Given the description of an element on the screen output the (x, y) to click on. 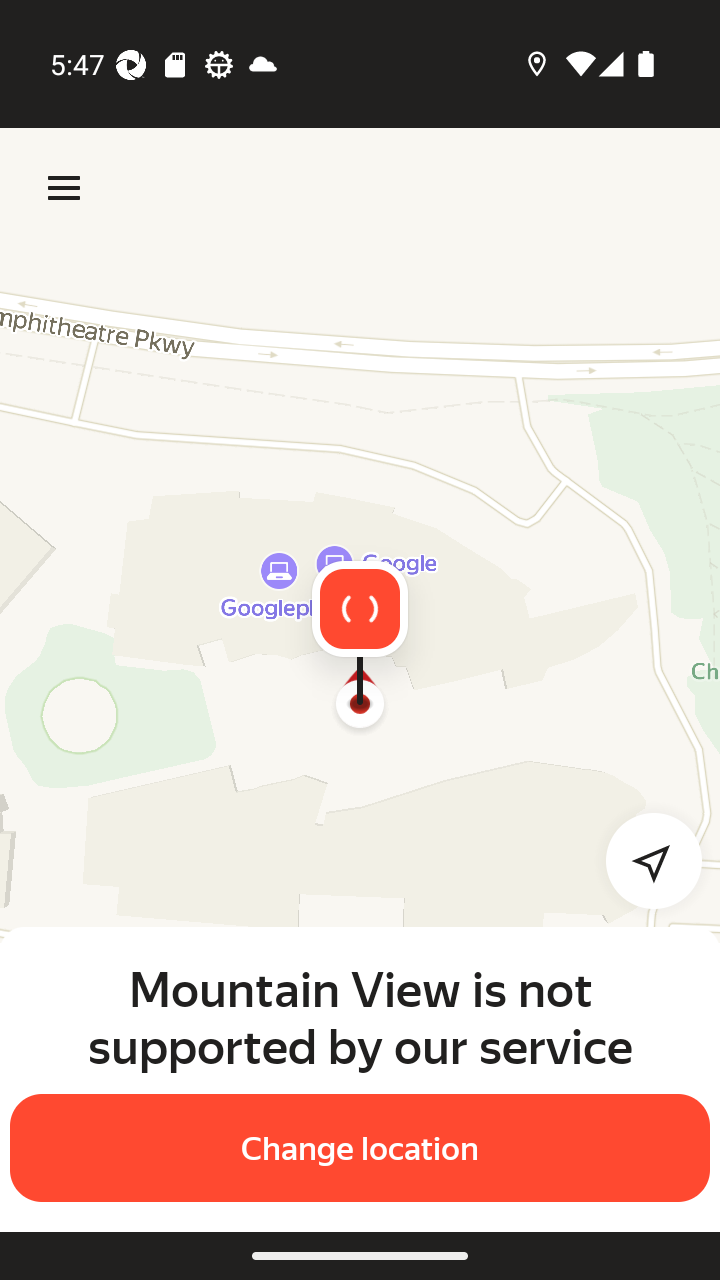
Menu Menu Menu (64, 188)
Detect my location (641, 860)
Mountain View is not supported by our service (360, 1017)
Change location (359, 1147)
